Given the description of an element on the screen output the (x, y) to click on. 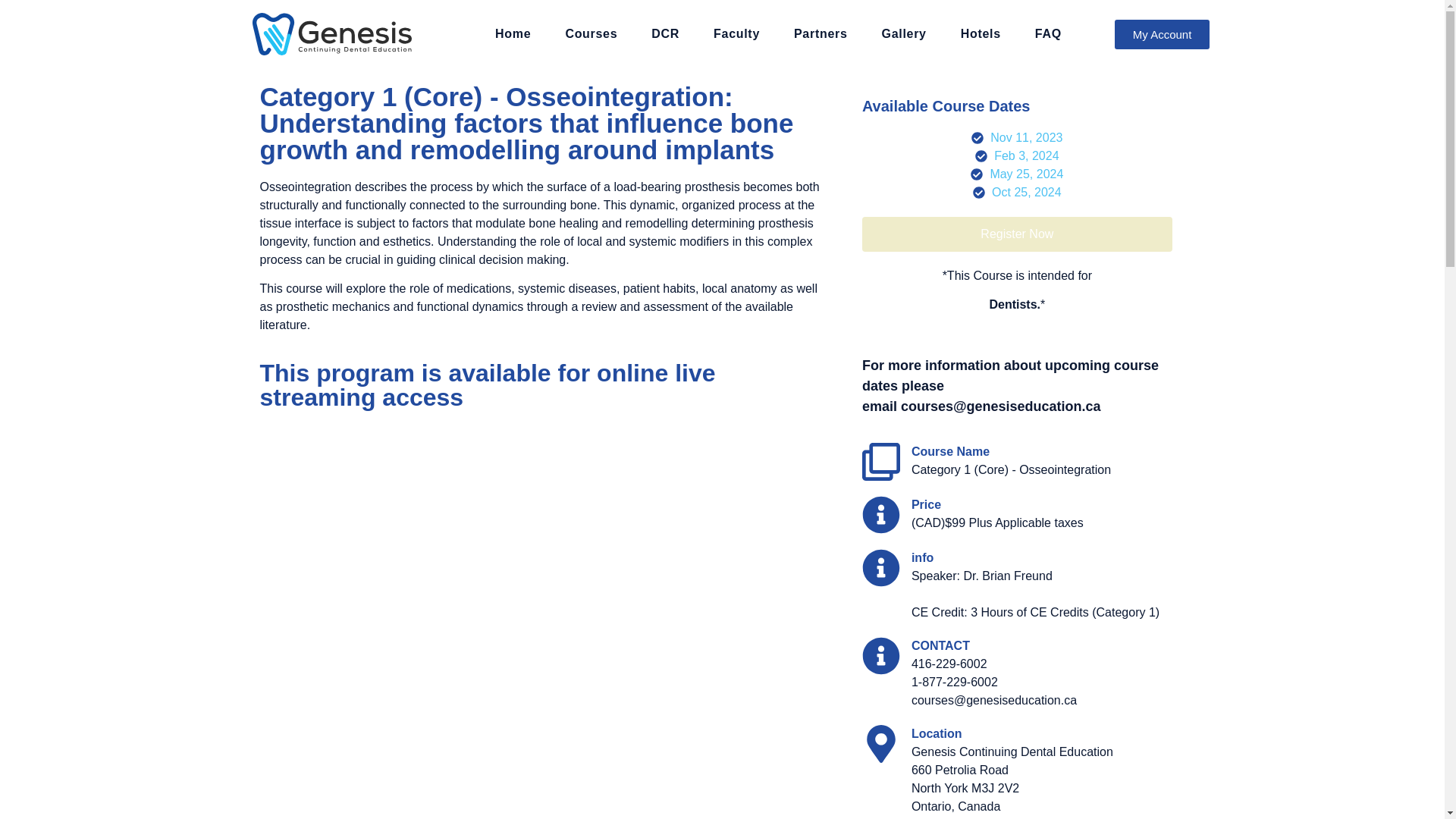
Home (513, 33)
Courses (590, 33)
DCR (665, 33)
Partners (820, 33)
Hotels (980, 33)
FAQ (1048, 33)
Gallery (904, 33)
Faculty (736, 33)
